Given the description of an element on the screen output the (x, y) to click on. 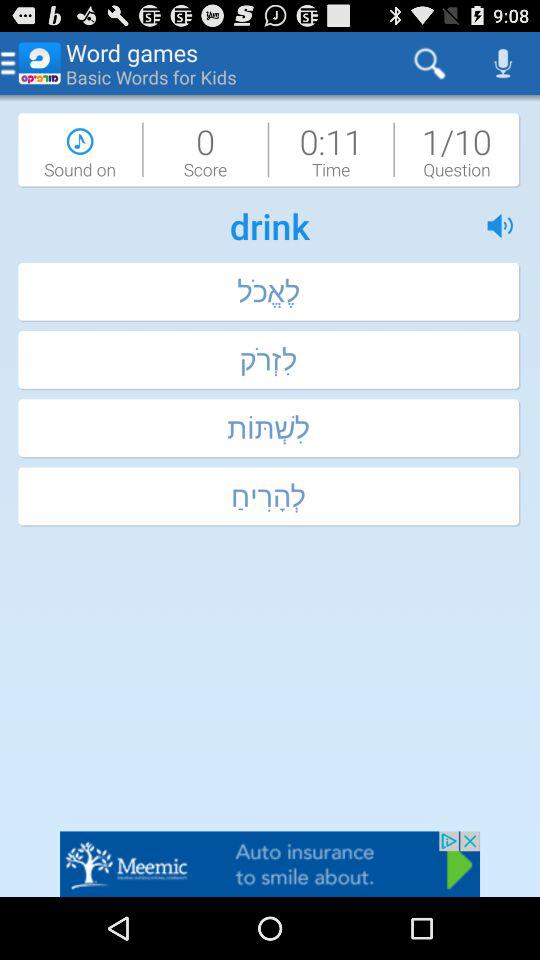
open advertisement (270, 864)
